Given the description of an element on the screen output the (x, y) to click on. 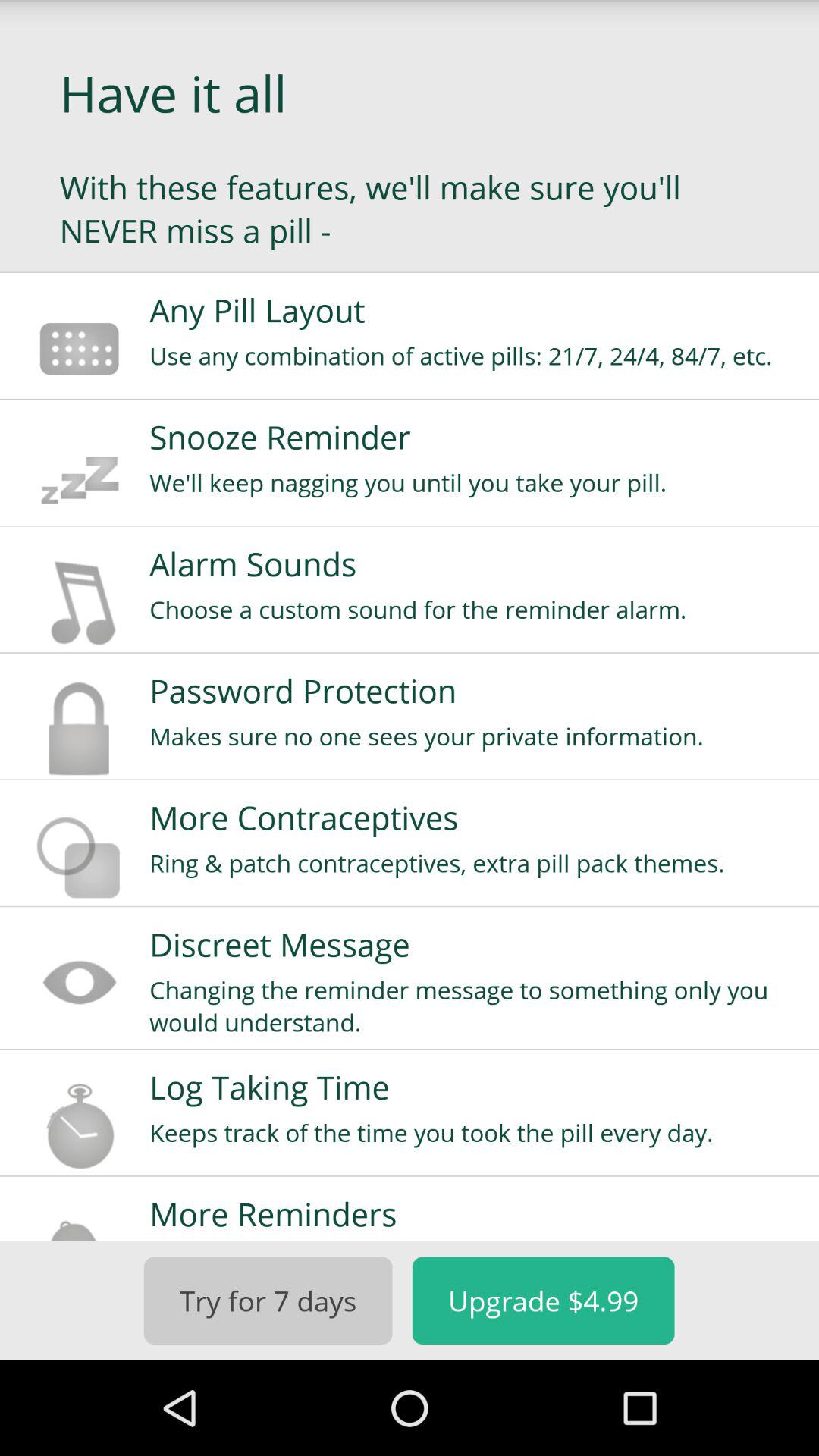
jump until the more reminders icon (474, 1213)
